Given the description of an element on the screen output the (x, y) to click on. 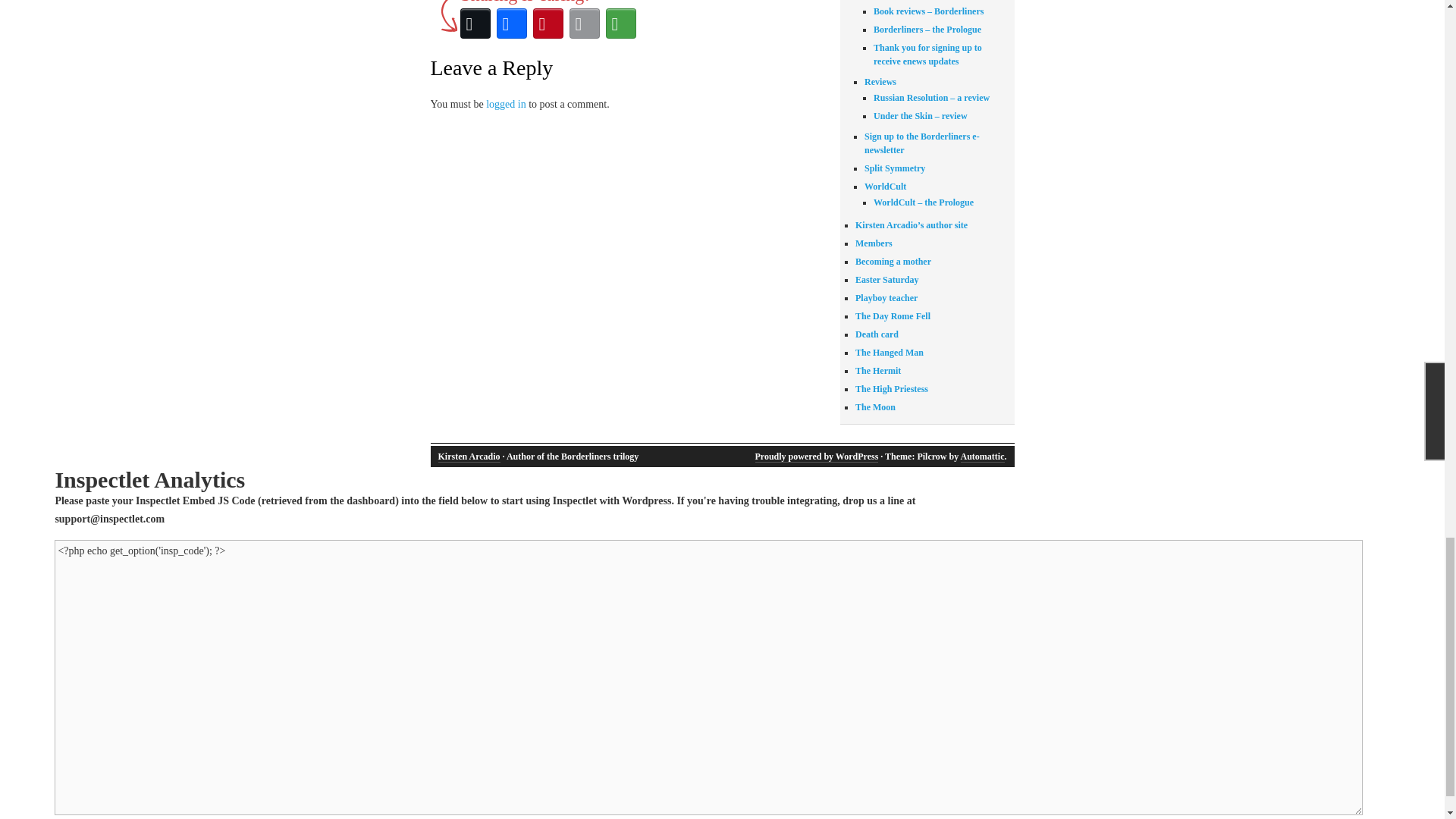
Facebook (511, 22)
A Semantic Personal Publishing Platform (817, 456)
More Options (620, 22)
logged in (505, 103)
Borderliners (889, 0)
Email This (584, 22)
Pinterest (547, 22)
Kirsten Arcadio (469, 456)
